Given the description of an element on the screen output the (x, y) to click on. 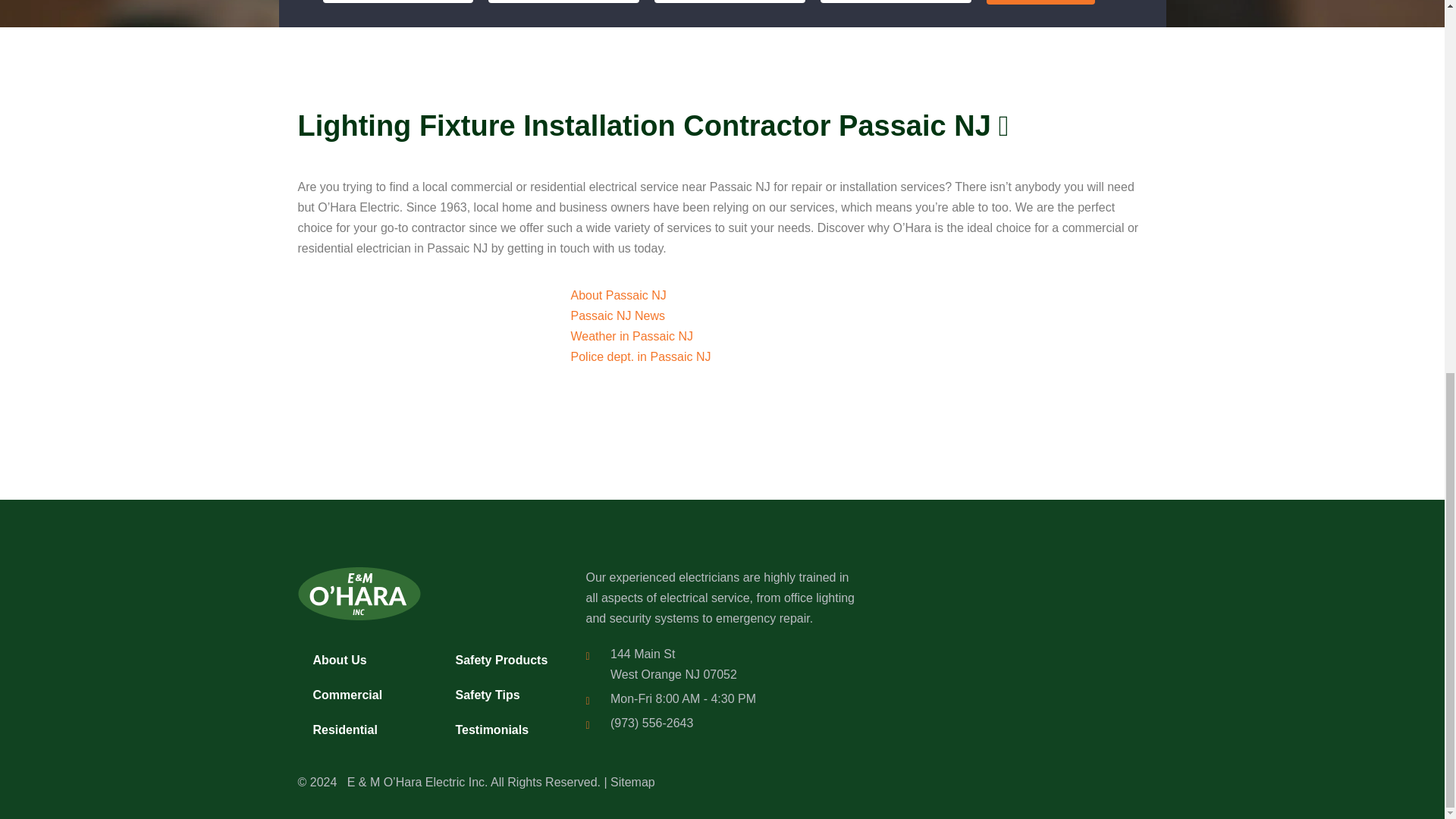
Get in Touch (1041, 2)
Residential (362, 729)
Commercial (362, 695)
Safety Products (504, 660)
Safety Tips (504, 695)
About Us (362, 660)
Police dept. in Passaic NJ (640, 356)
144 Main St West Orange NJ 07052 (1010, 661)
About Passaic NJ (617, 295)
Testimonials (504, 729)
Passaic NJ News (616, 315)
Weather in Passaic NJ (631, 336)
